Given the description of an element on the screen output the (x, y) to click on. 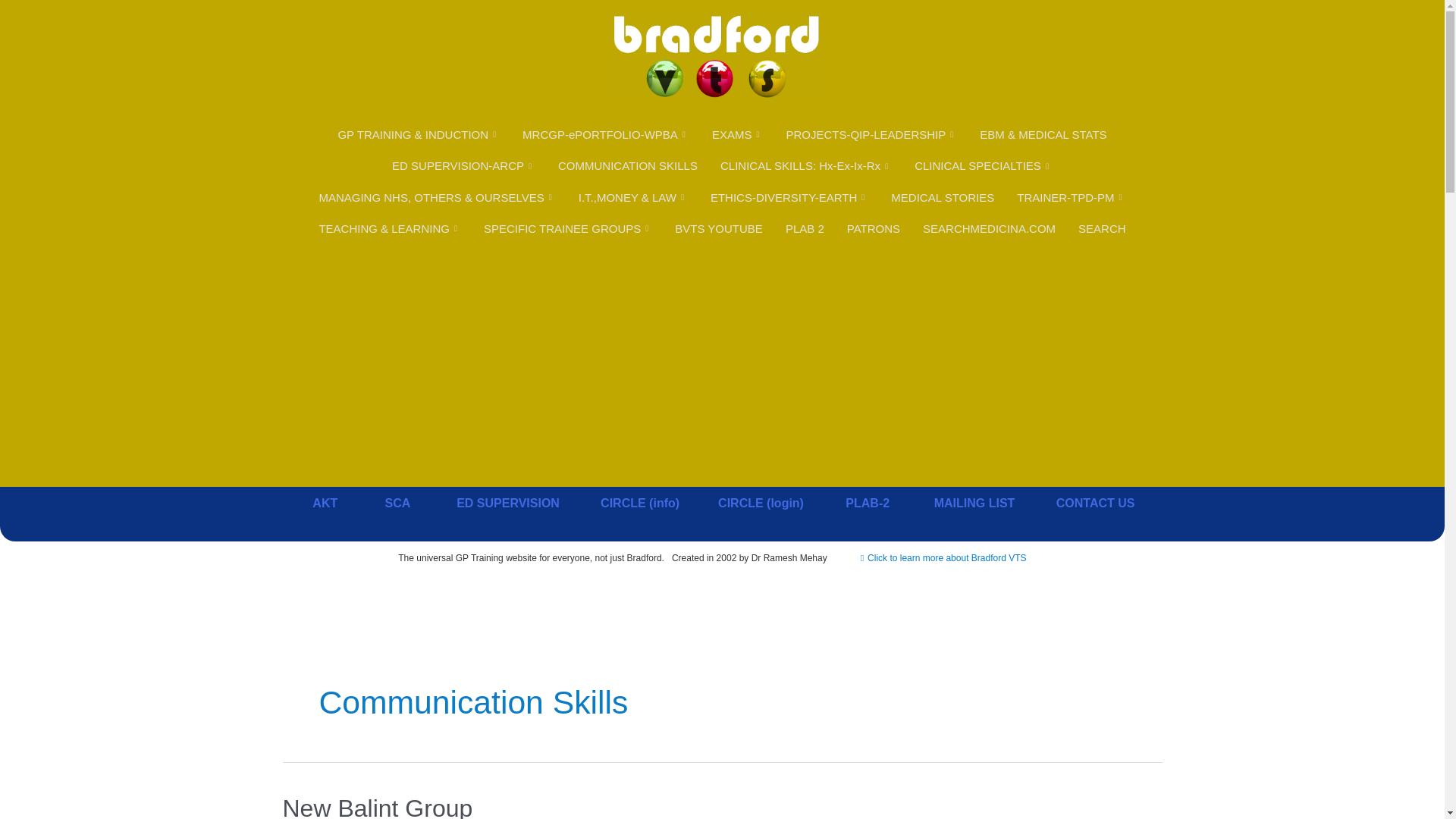
MRCGP-ePORTFOLIO-WPBA (605, 133)
